Given the description of an element on the screen output the (x, y) to click on. 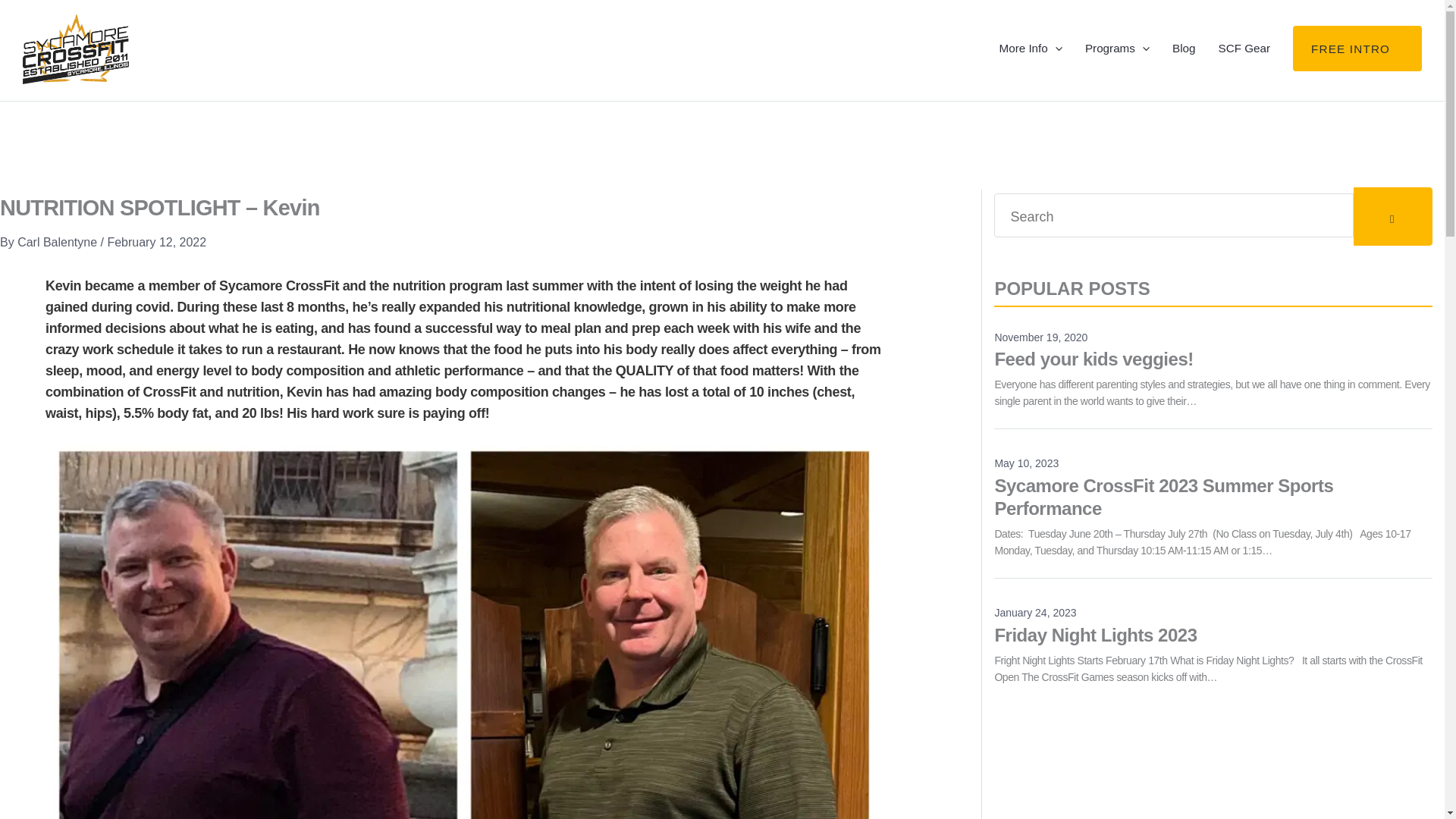
More Info (1030, 70)
Blog (1183, 70)
FREE INTRO (1357, 70)
Carl Balentyne (58, 285)
SCF Gear (1244, 70)
Programs (1117, 70)
View all posts by Carl Balentyne (58, 285)
